Given the description of an element on the screen output the (x, y) to click on. 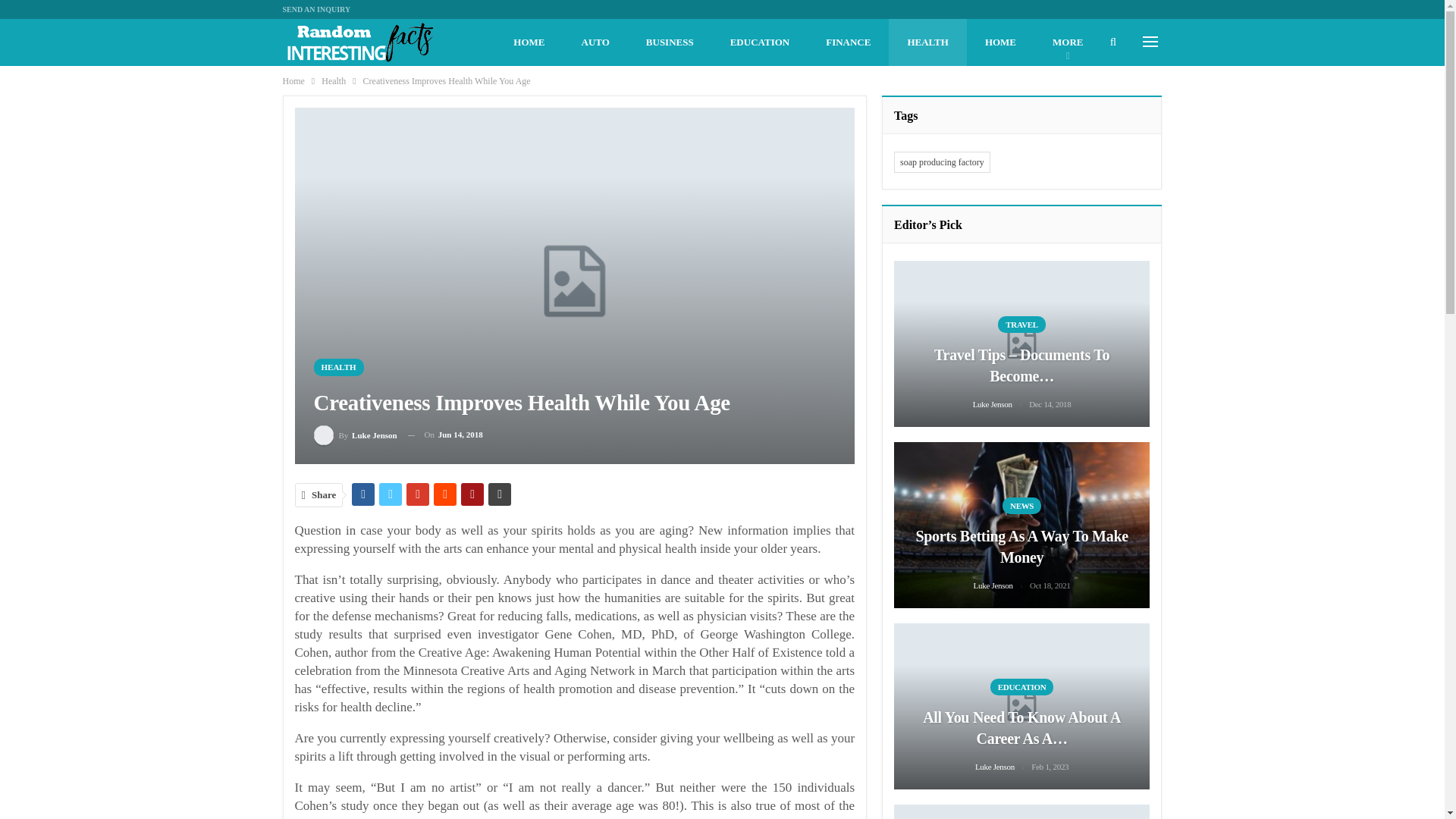
By Luke Jenson (355, 435)
BUSINESS (669, 42)
HEALTH (927, 42)
Home (293, 80)
AUTO (594, 42)
EDUCATION (759, 42)
Browse Author Articles (355, 435)
HOME (999, 42)
SEND AN INQUIRY (316, 8)
HOME (528, 42)
MORE (1066, 42)
HEALTH (339, 366)
Health (333, 80)
FINANCE (848, 42)
